Given the description of an element on the screen output the (x, y) to click on. 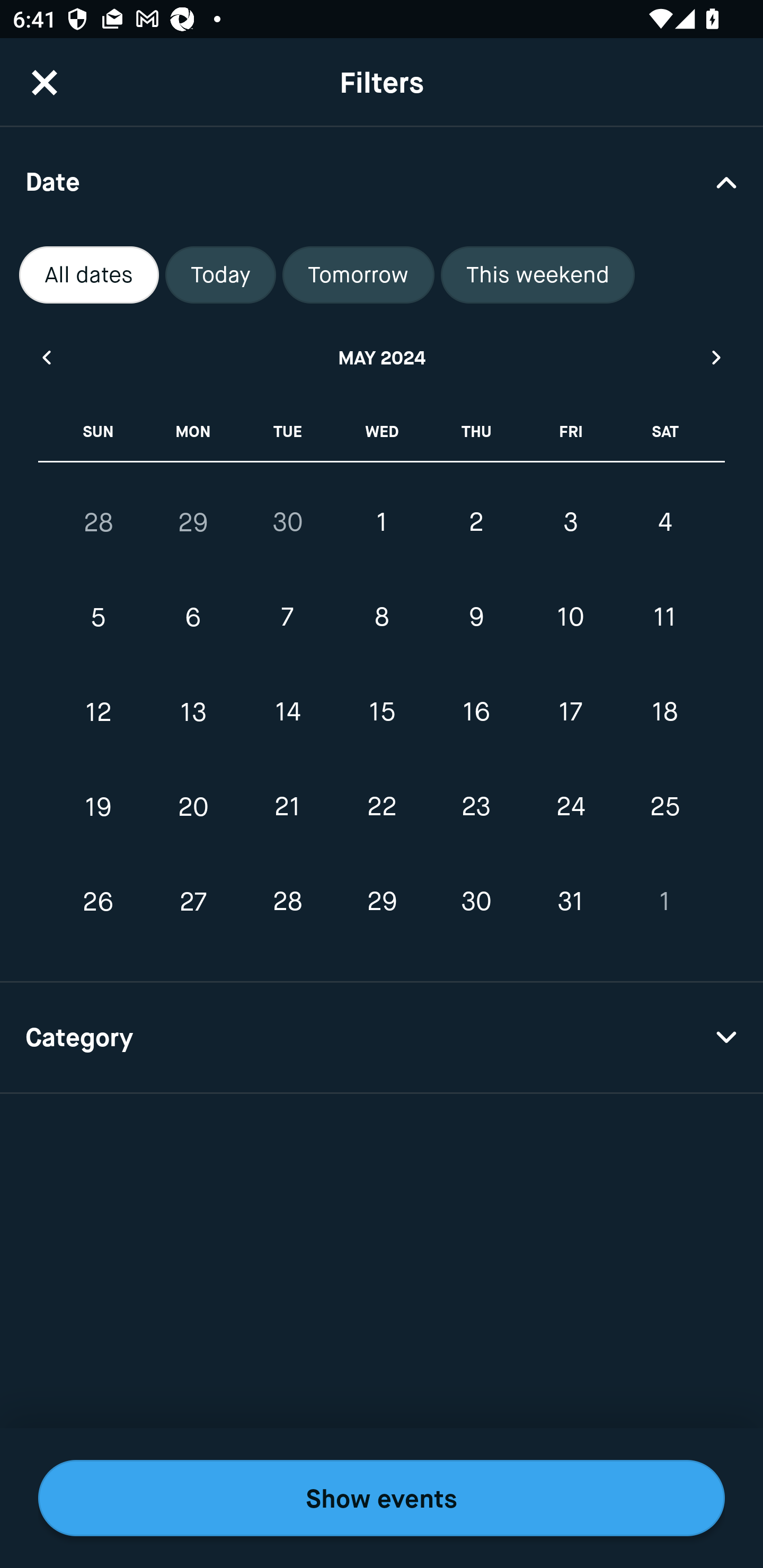
CloseButton (44, 82)
Date Drop Down Arrow (381, 181)
All dates (88, 274)
Today (220, 274)
Tomorrow (358, 274)
This weekend (537, 274)
Previous (45, 357)
Next (717, 357)
28 (98, 522)
29 (192, 522)
30 (287, 522)
1 (381, 522)
2 (475, 522)
3 (570, 522)
4 (664, 522)
5 (98, 617)
6 (192, 617)
7 (287, 617)
8 (381, 617)
9 (475, 617)
10 (570, 617)
11 (664, 617)
12 (98, 711)
13 (192, 711)
14 (287, 711)
15 (381, 711)
16 (475, 711)
17 (570, 711)
18 (664, 711)
19 (98, 806)
20 (192, 806)
21 (287, 806)
22 (381, 806)
23 (475, 806)
24 (570, 806)
25 (664, 806)
26 (98, 901)
27 (192, 901)
28 (287, 901)
29 (381, 901)
30 (475, 901)
31 (570, 901)
1 (664, 901)
Category Drop Down Arrow (381, 1038)
Show events (381, 1497)
